Given the description of an element on the screen output the (x, y) to click on. 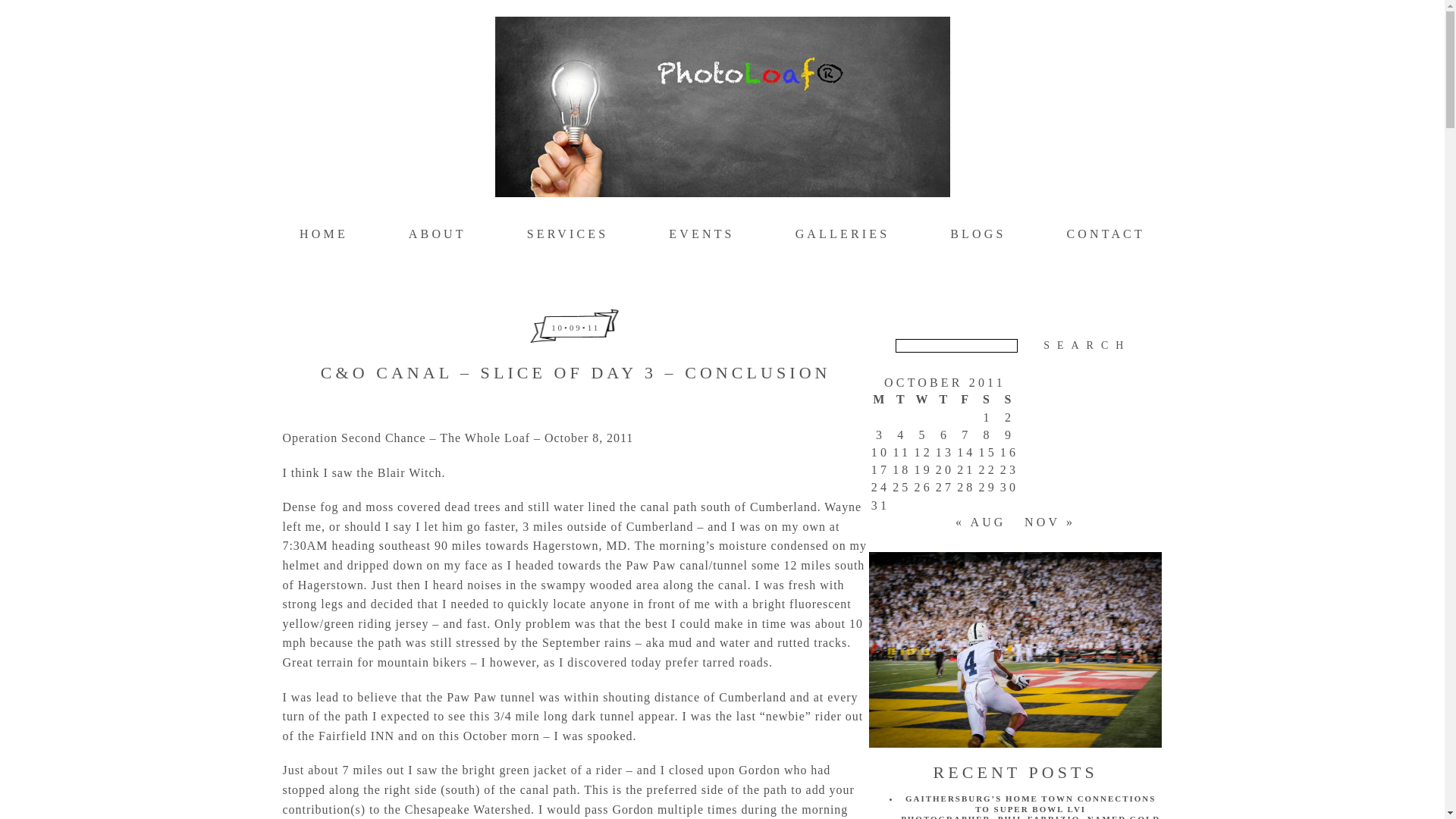
HOME (323, 233)
Wednesday (922, 399)
SERVICES (567, 233)
BLOGS (978, 233)
ABOUT (437, 233)
Tuesday (901, 399)
Search (1087, 345)
CONTACT (1104, 233)
GALLERIES (841, 233)
Monday (879, 399)
EVENTS (700, 233)
